Given the description of an element on the screen output the (x, y) to click on. 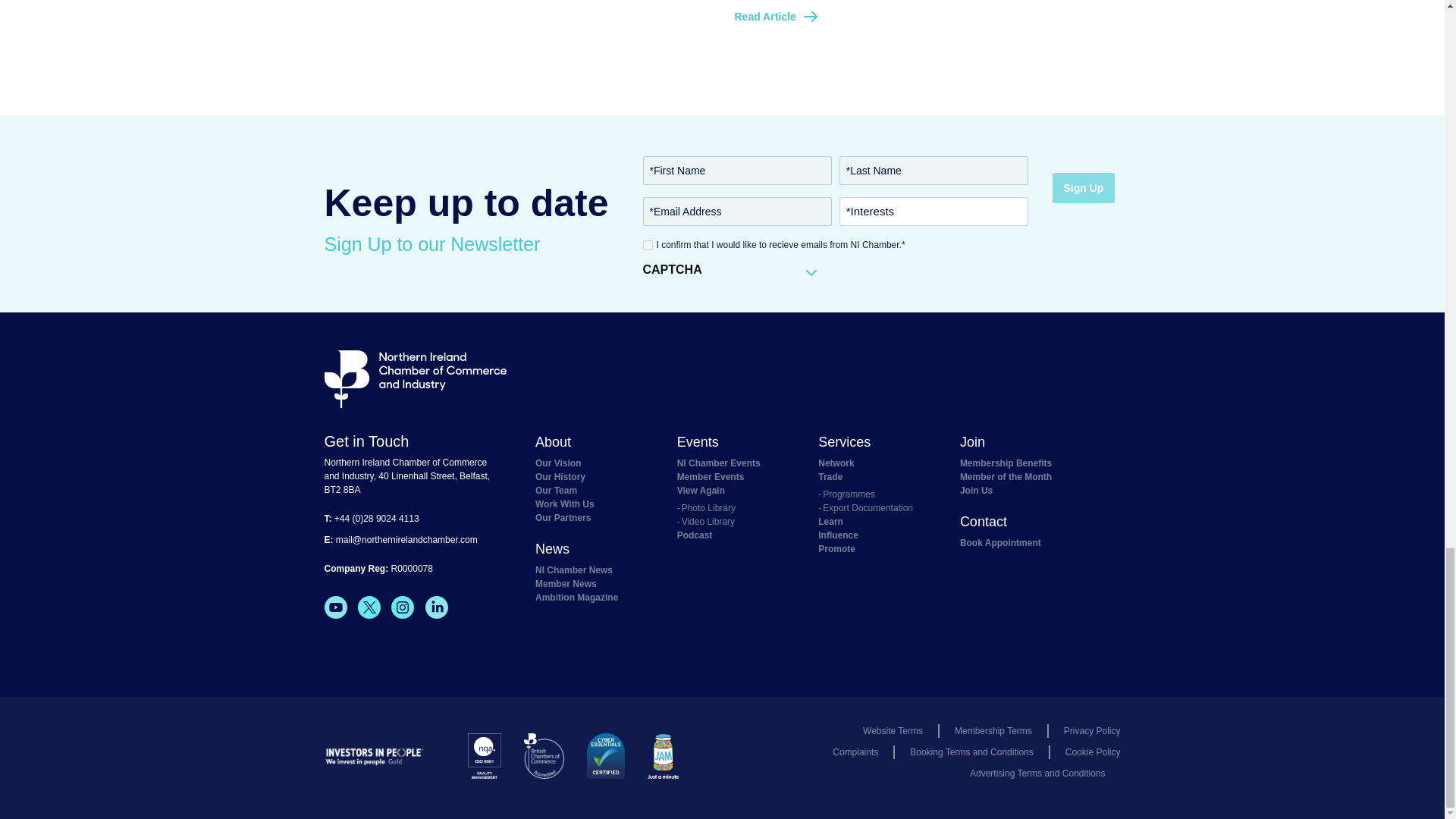
1 (647, 244)
